Given the description of an element on the screen output the (x, y) to click on. 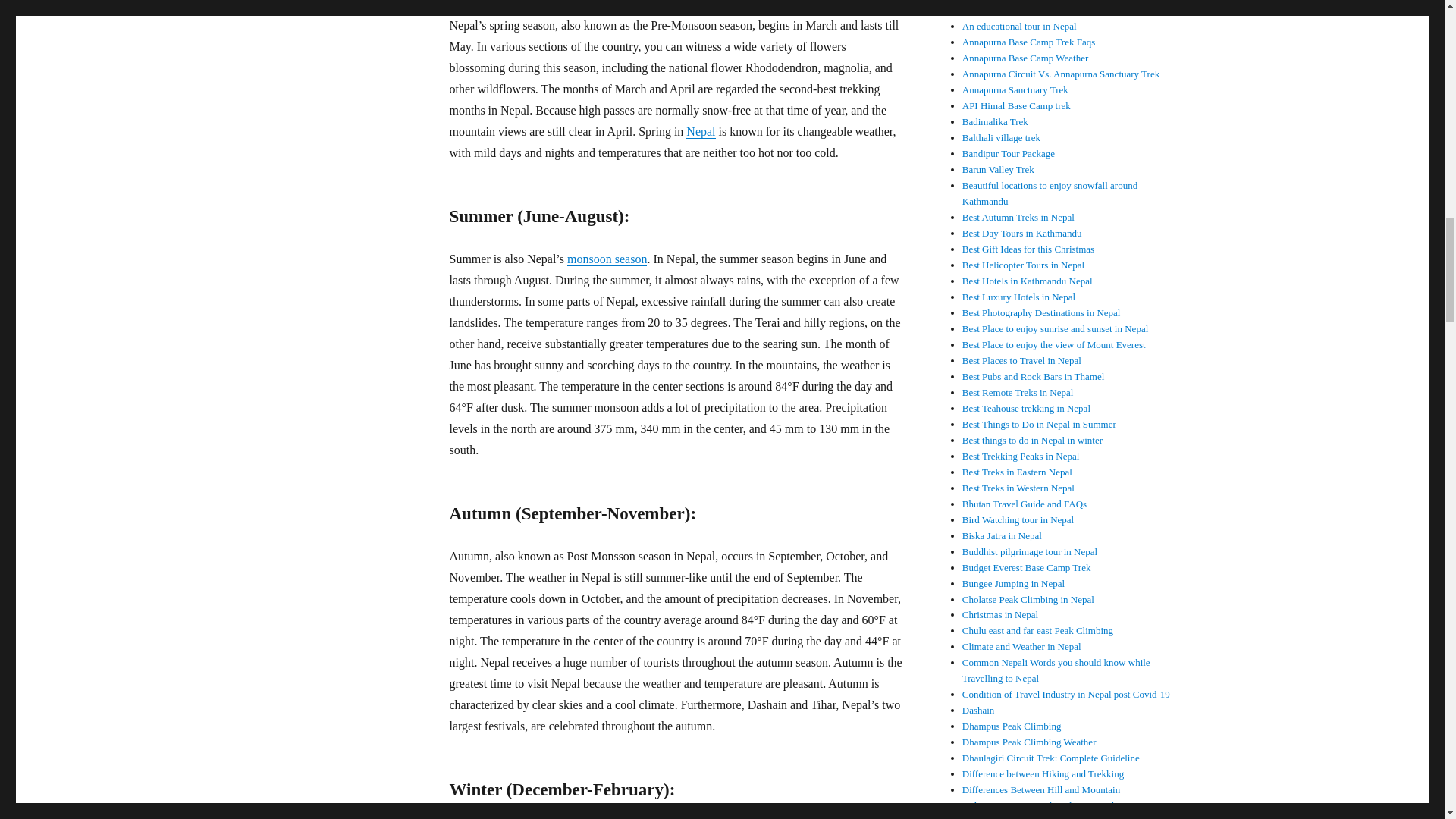
monsoon season (606, 258)
Nepal (699, 131)
